Given the description of an element on the screen output the (x, y) to click on. 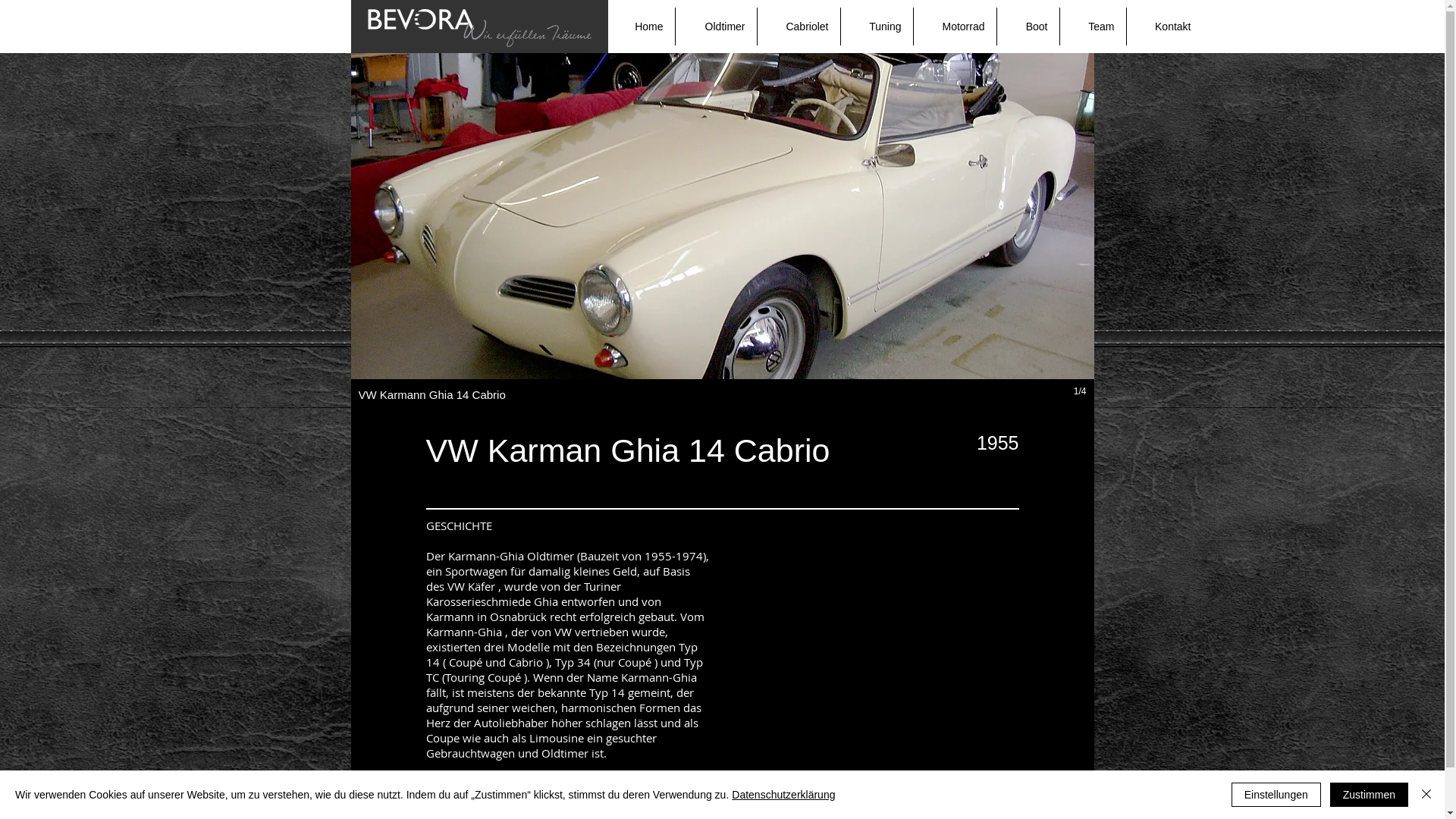
Home Element type: text (639, 26)
Boot Element type: text (1027, 26)
logo03.png Element type: hover (479, 30)
Tuning Element type: text (876, 26)
Zustimmen Element type: text (1369, 794)
Team Element type: text (1093, 26)
Cabriolet Element type: text (797, 26)
Motorrad Element type: text (954, 26)
Kontakt Element type: text (1164, 26)
Oldtimer Element type: text (715, 26)
Einstellungen Element type: text (1276, 794)
